Given the description of an element on the screen output the (x, y) to click on. 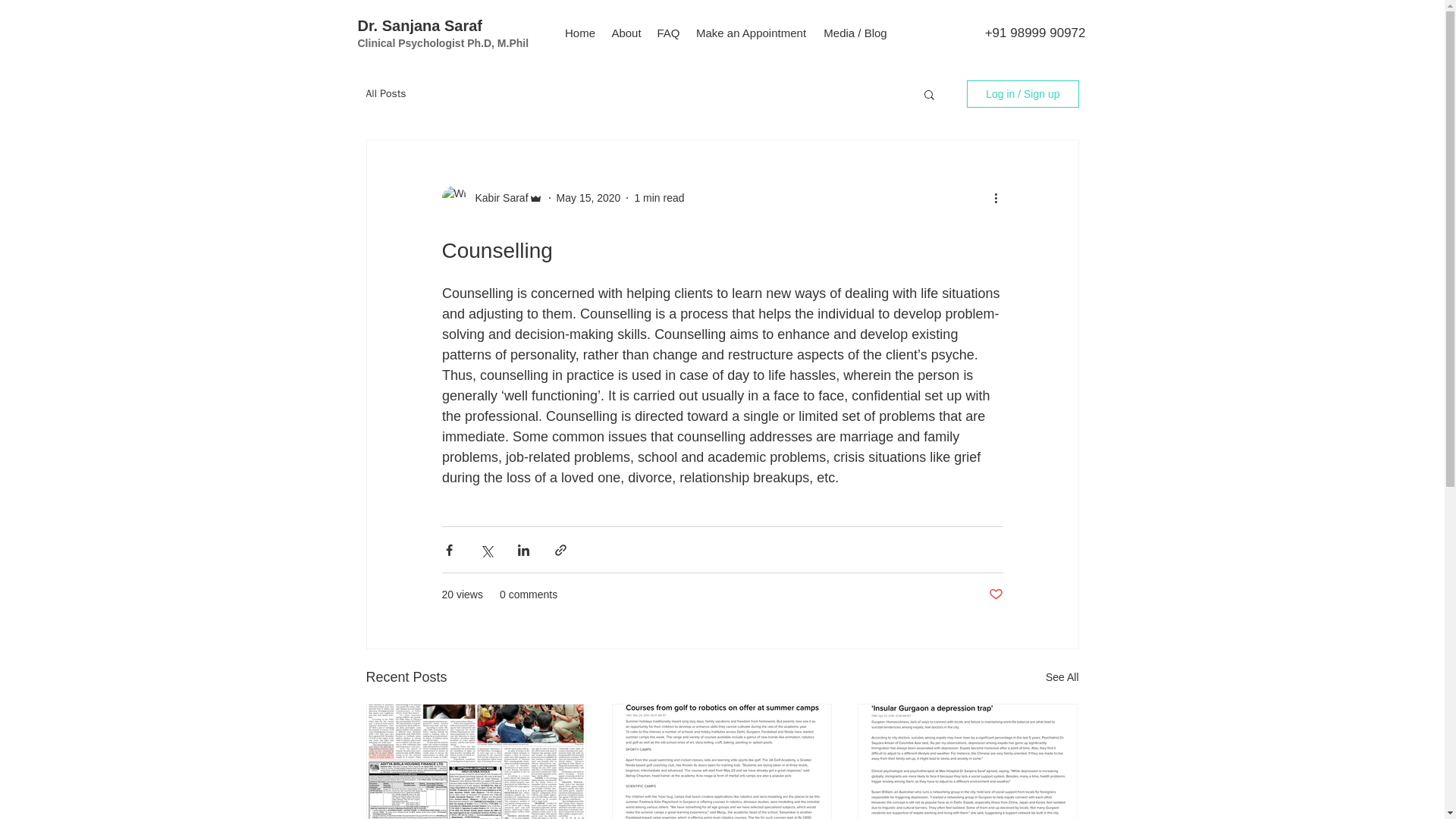
Home (579, 32)
FAQ (668, 32)
Make an Appointment (750, 32)
See All (1061, 677)
Post not marked as liked (995, 594)
Clinical Psychologist Ph.D, M.Phil  (444, 42)
Kabir Saraf (496, 197)
Dr. Sanjana Saraf (420, 25)
May 15, 2020 (588, 196)
1 min read (658, 196)
